Given the description of an element on the screen output the (x, y) to click on. 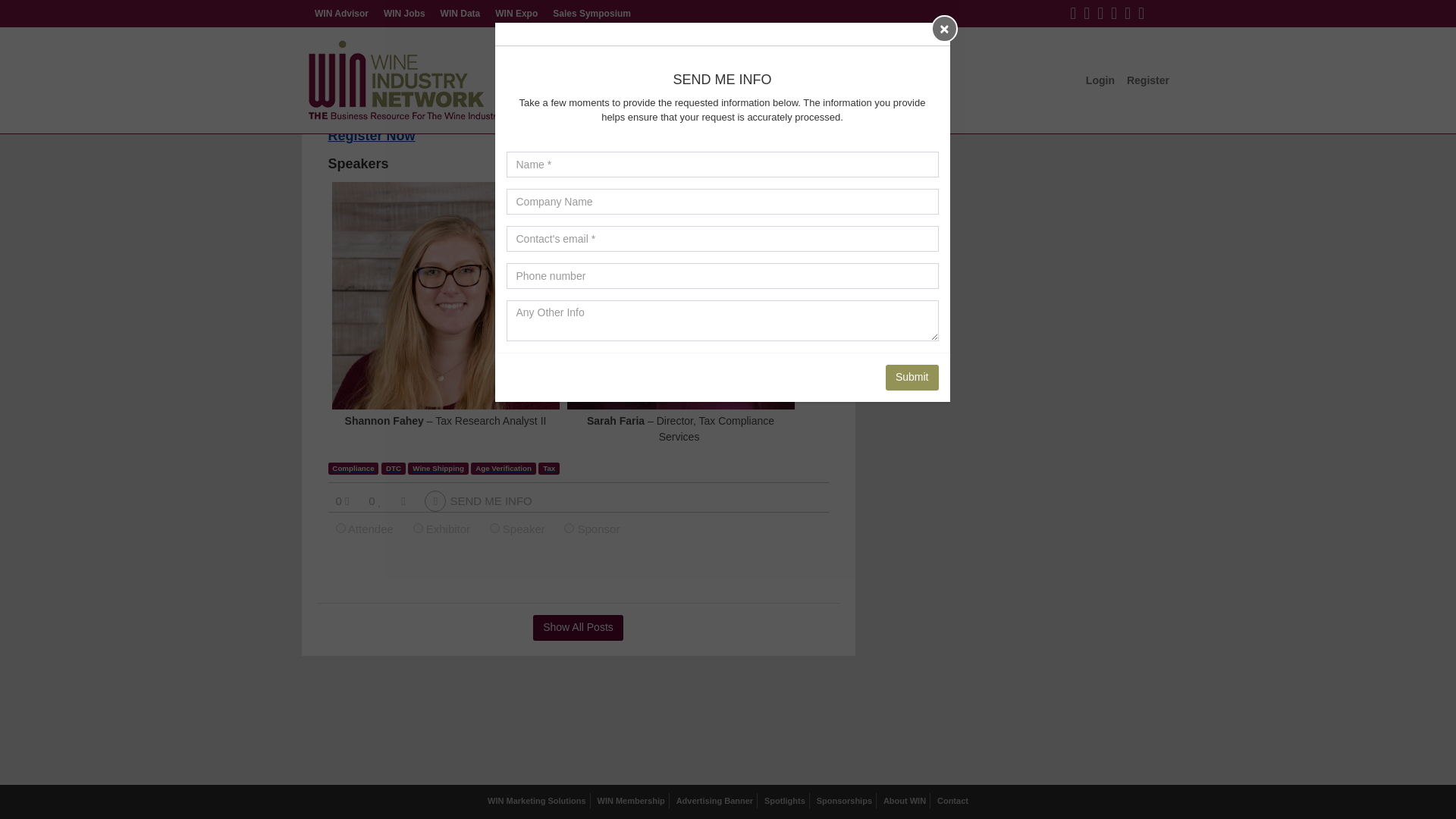
Register Now (370, 136)
